Given the description of an element on the screen output the (x, y) to click on. 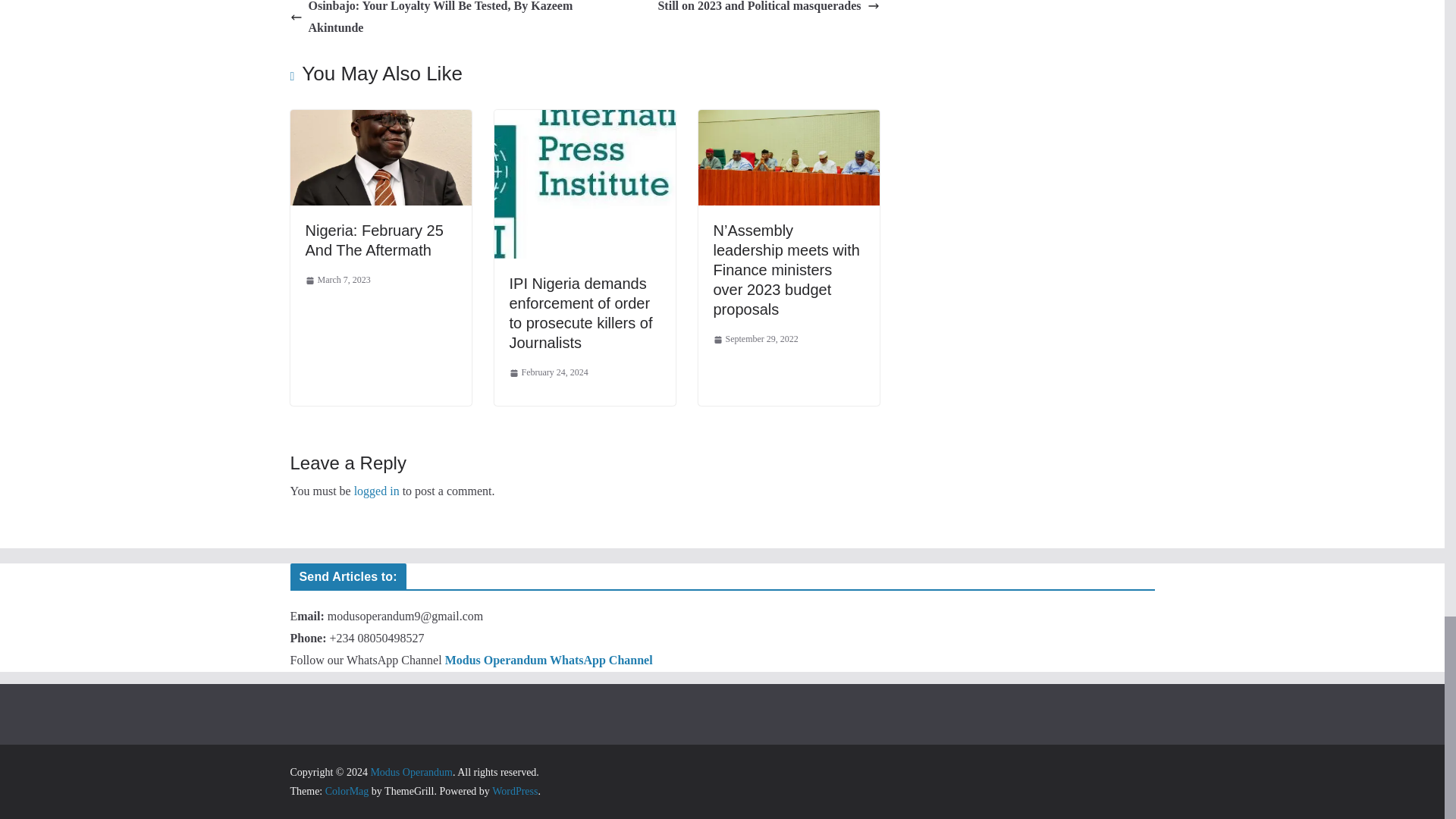
March 7, 2023 (336, 280)
Still on 2023 and Political masquerades (768, 8)
February 24, 2024 (548, 372)
Osinbajo: Your Loyalty Will Be Tested, By Kazeem Akintunde (432, 19)
Nigeria: February 25 And The Aftermath (373, 239)
